Given the description of an element on the screen output the (x, y) to click on. 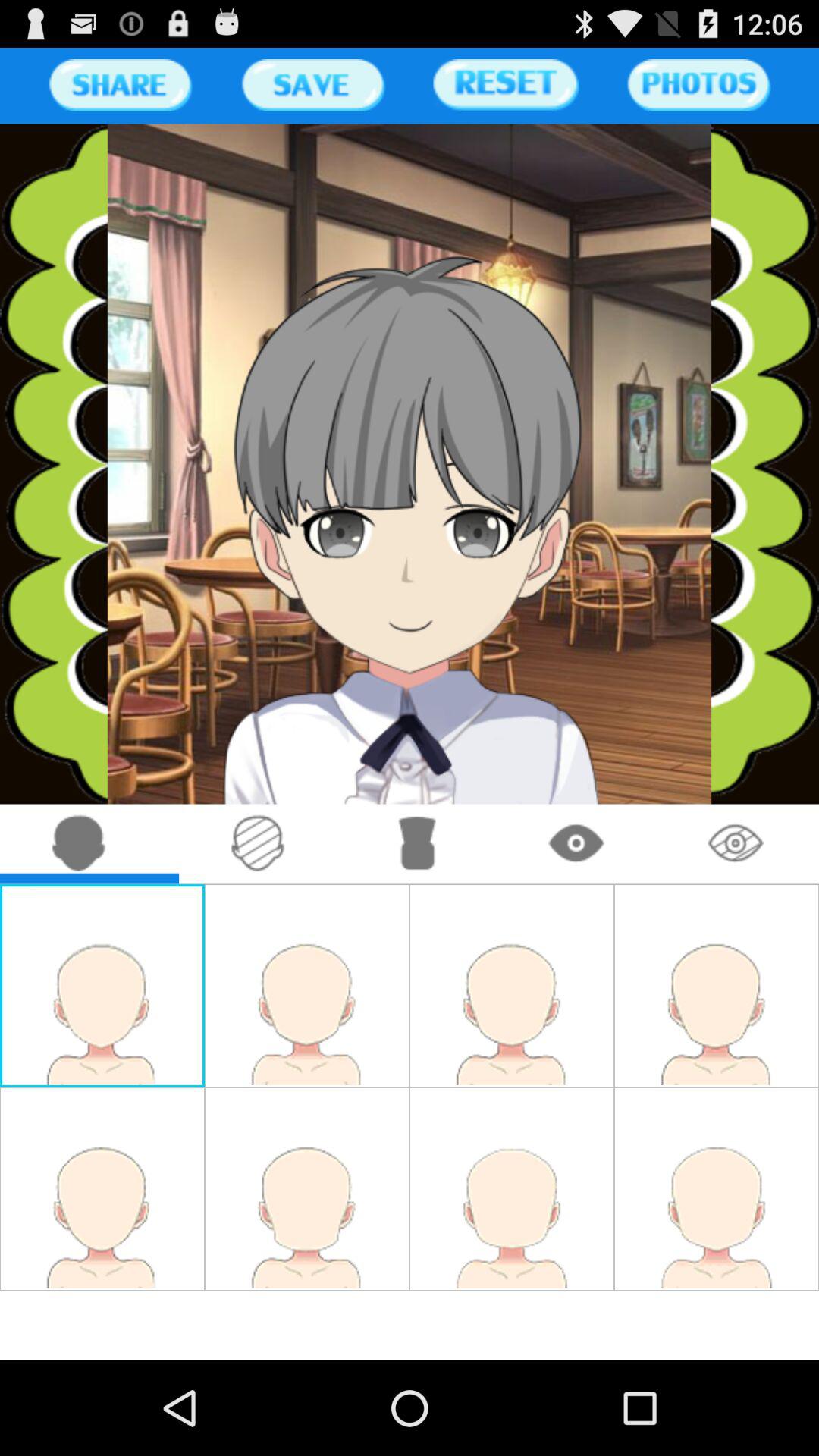
photo album (698, 85)
